Given the description of an element on the screen output the (x, y) to click on. 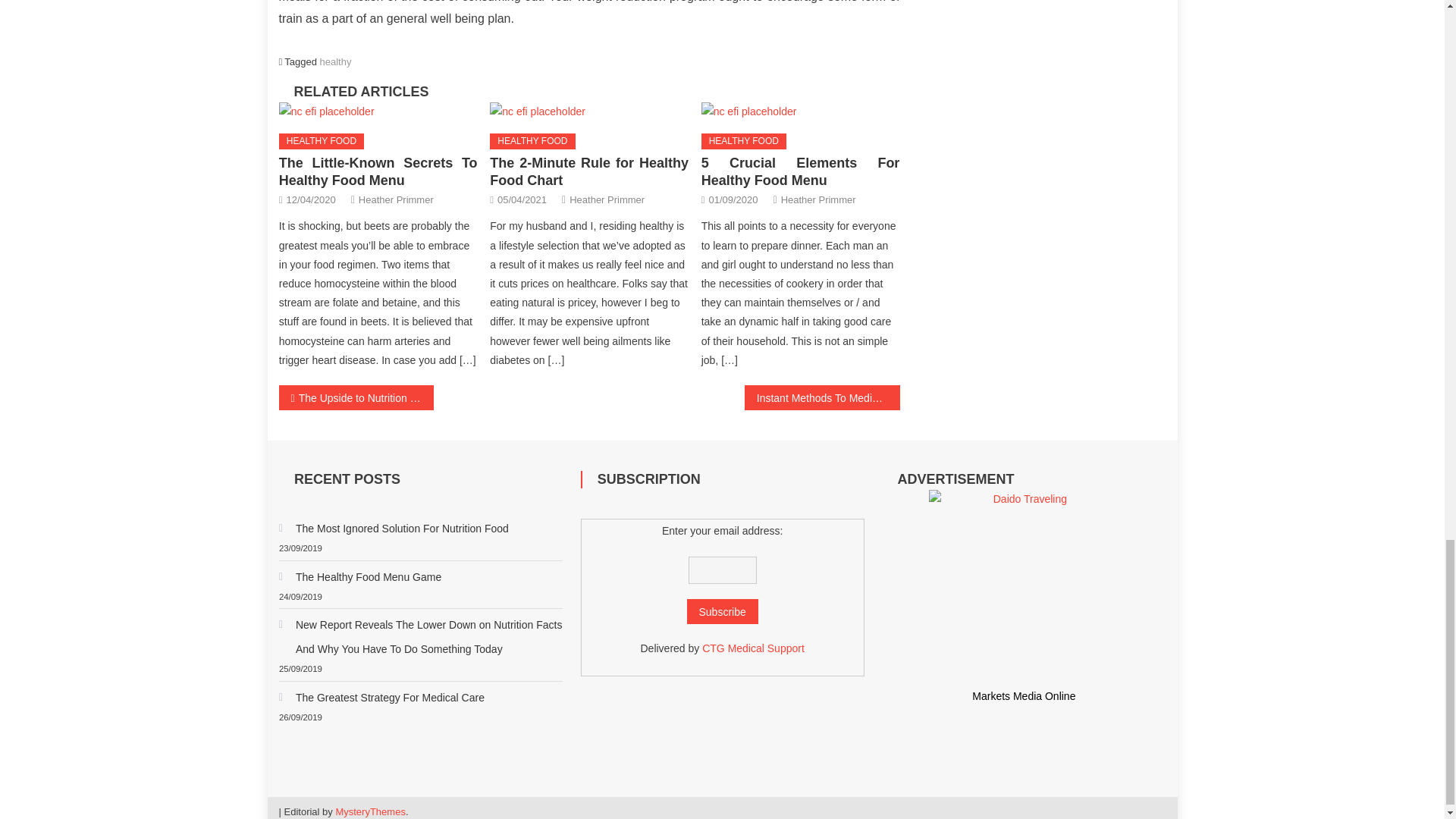
The 2-Minute Rule for Healthy Food Chart (537, 111)
Heather Primmer (818, 199)
HEALTHY FOOD (743, 141)
Heather Primmer (607, 199)
The Little-Known Secrets To Healthy Food Menu (378, 171)
Instant Methods To Medical Care In Step-by-step Aspect (821, 397)
healthy (336, 61)
Heather Primmer (395, 199)
The 2-Minute Rule for Healthy Food Chart (588, 112)
HEALTHY FOOD (321, 141)
The 2-Minute Rule for Healthy Food Chart (588, 171)
The Upside to Nutrition Food (356, 397)
5 Crucial Elements For Healthy Food Menu (800, 171)
Subscribe (722, 611)
The Little-Known Secrets To Healthy Food Menu (326, 111)
